Given the description of an element on the screen output the (x, y) to click on. 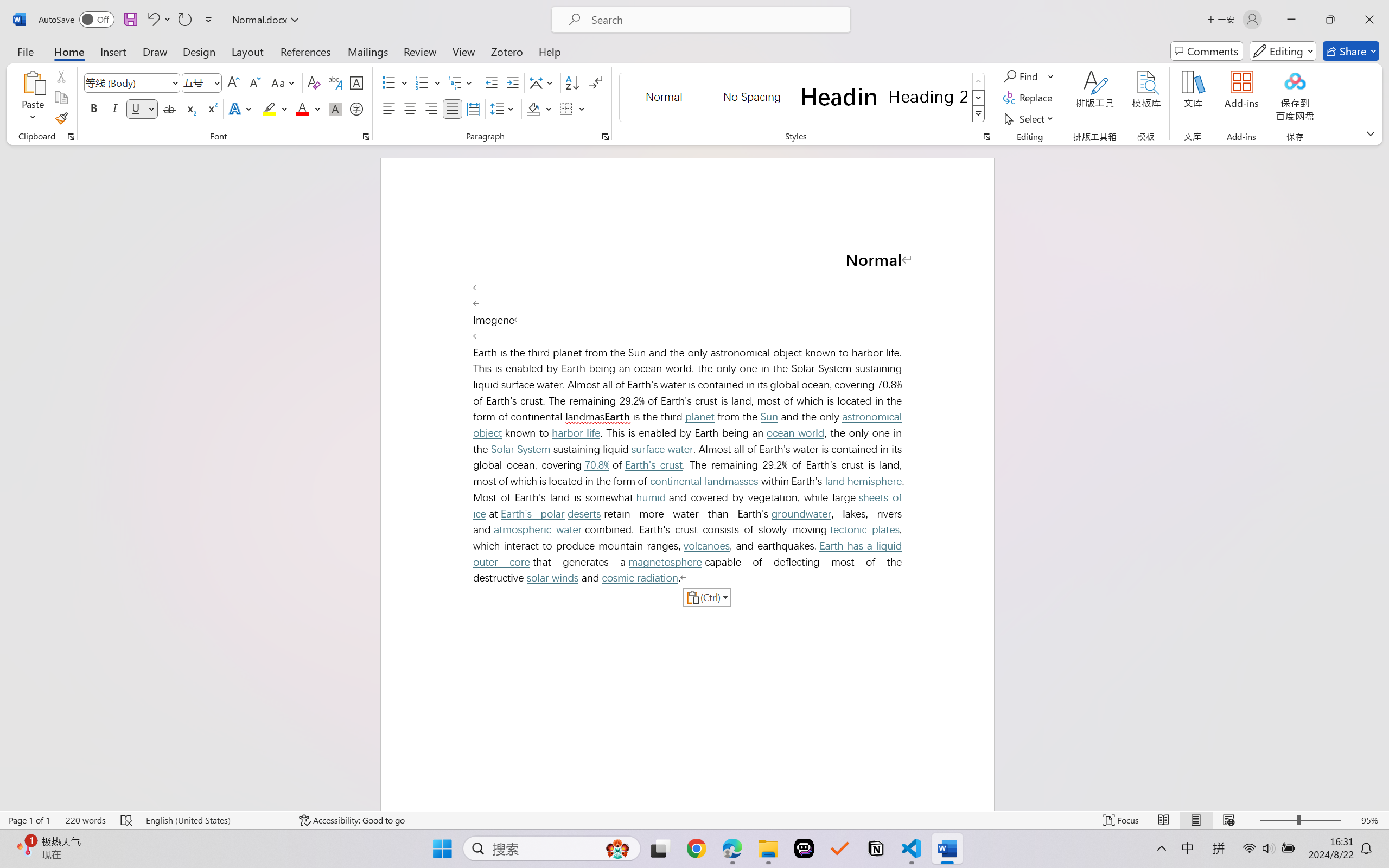
Text Highlight Color Yellow (269, 108)
deserts (584, 513)
Font Color (308, 108)
Character Shading (334, 108)
Character Border (356, 82)
Distributed (473, 108)
Align Left (388, 108)
Heading 2 (927, 96)
